Given the description of an element on the screen output the (x, y) to click on. 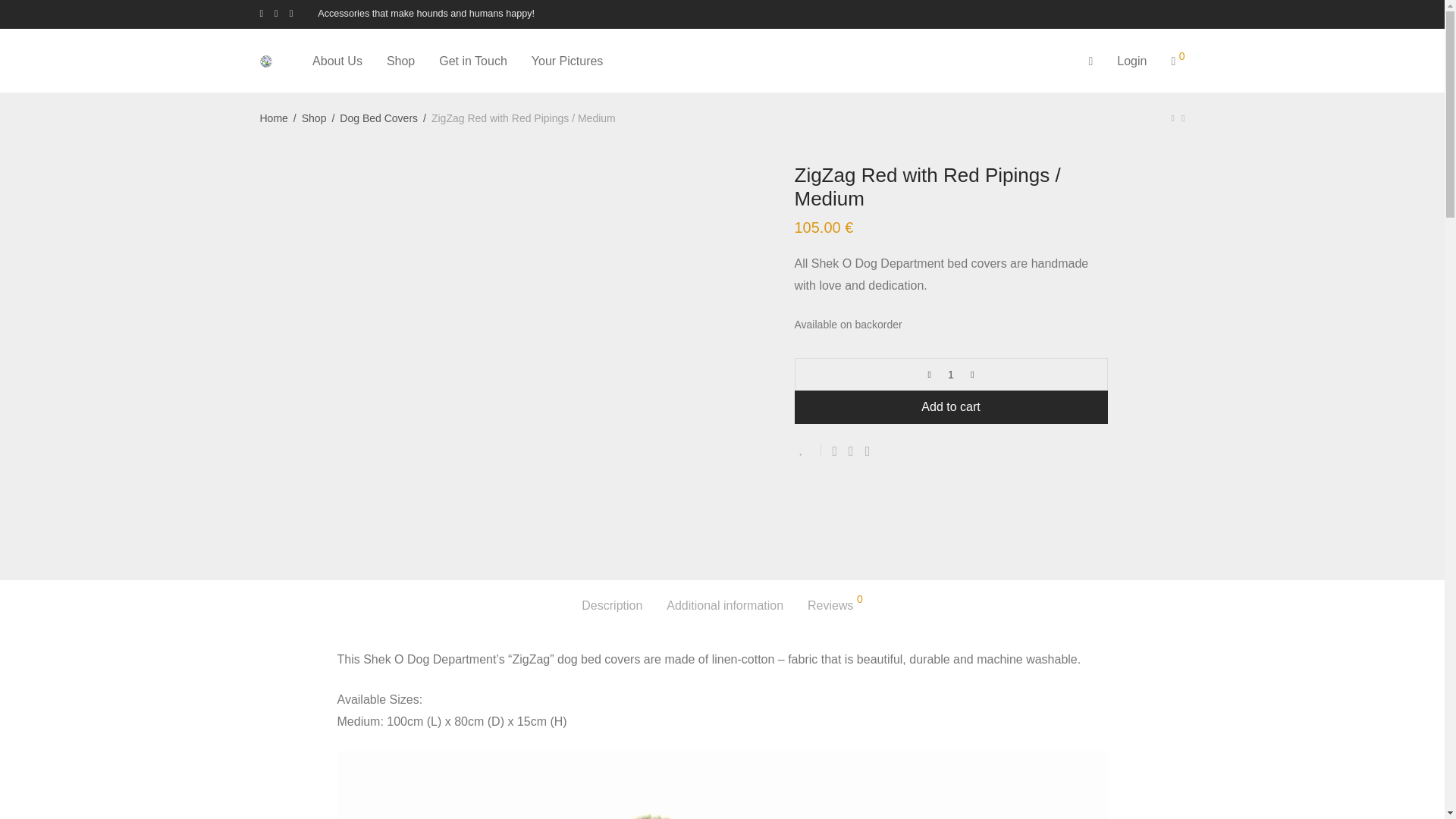
Add to cart (951, 407)
Login (1131, 61)
Shop (313, 117)
Get in Touch (472, 61)
Dog Bed Covers (378, 117)
Add to Wishlist (807, 449)
Your Pictures (567, 61)
About Us (336, 61)
Shop (400, 61)
0 (1177, 61)
